Given the description of an element on the screen output the (x, y) to click on. 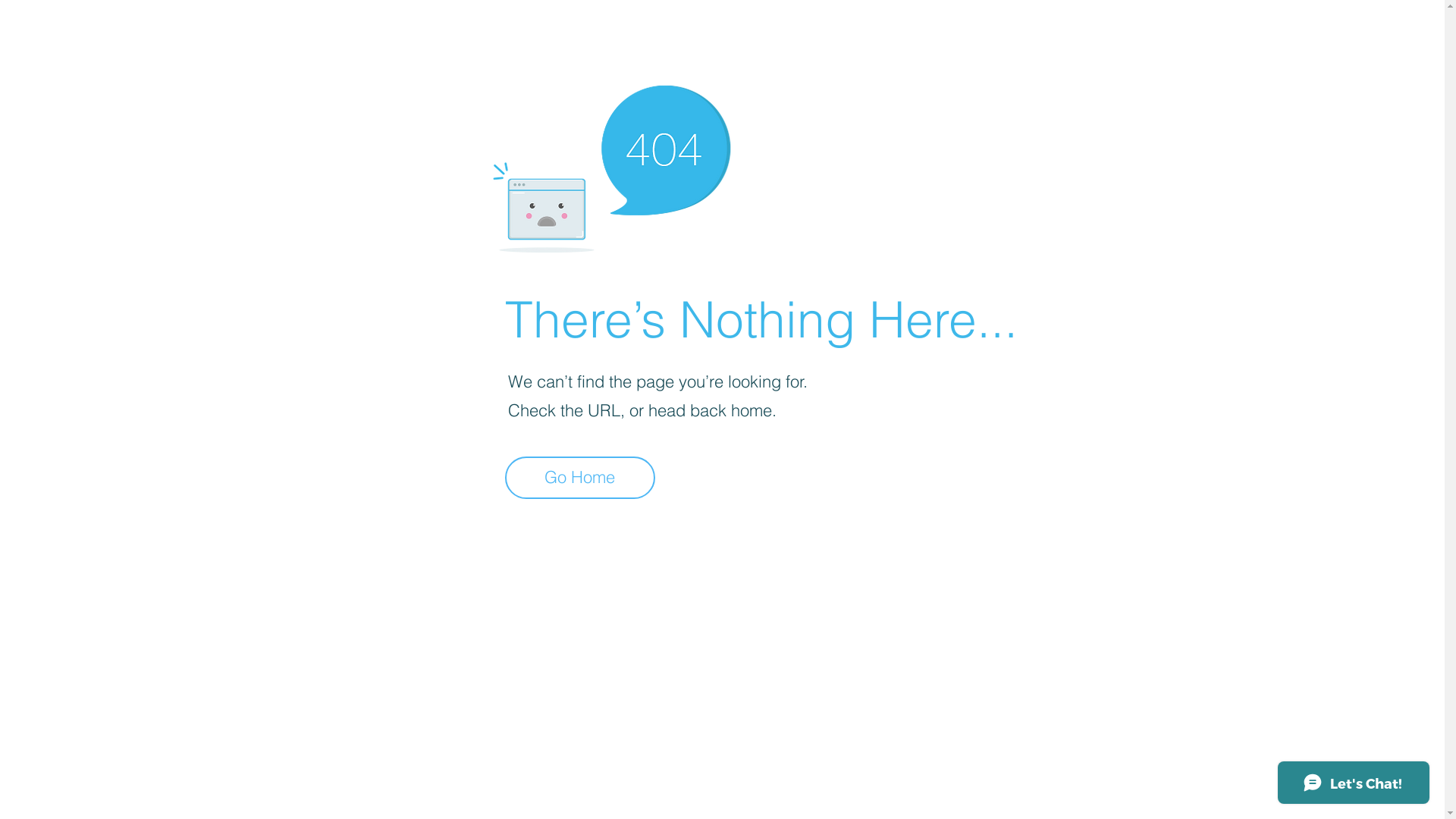
404-icon_2.png Element type: hover (610, 164)
Go Home Element type: text (580, 477)
